Given the description of an element on the screen output the (x, y) to click on. 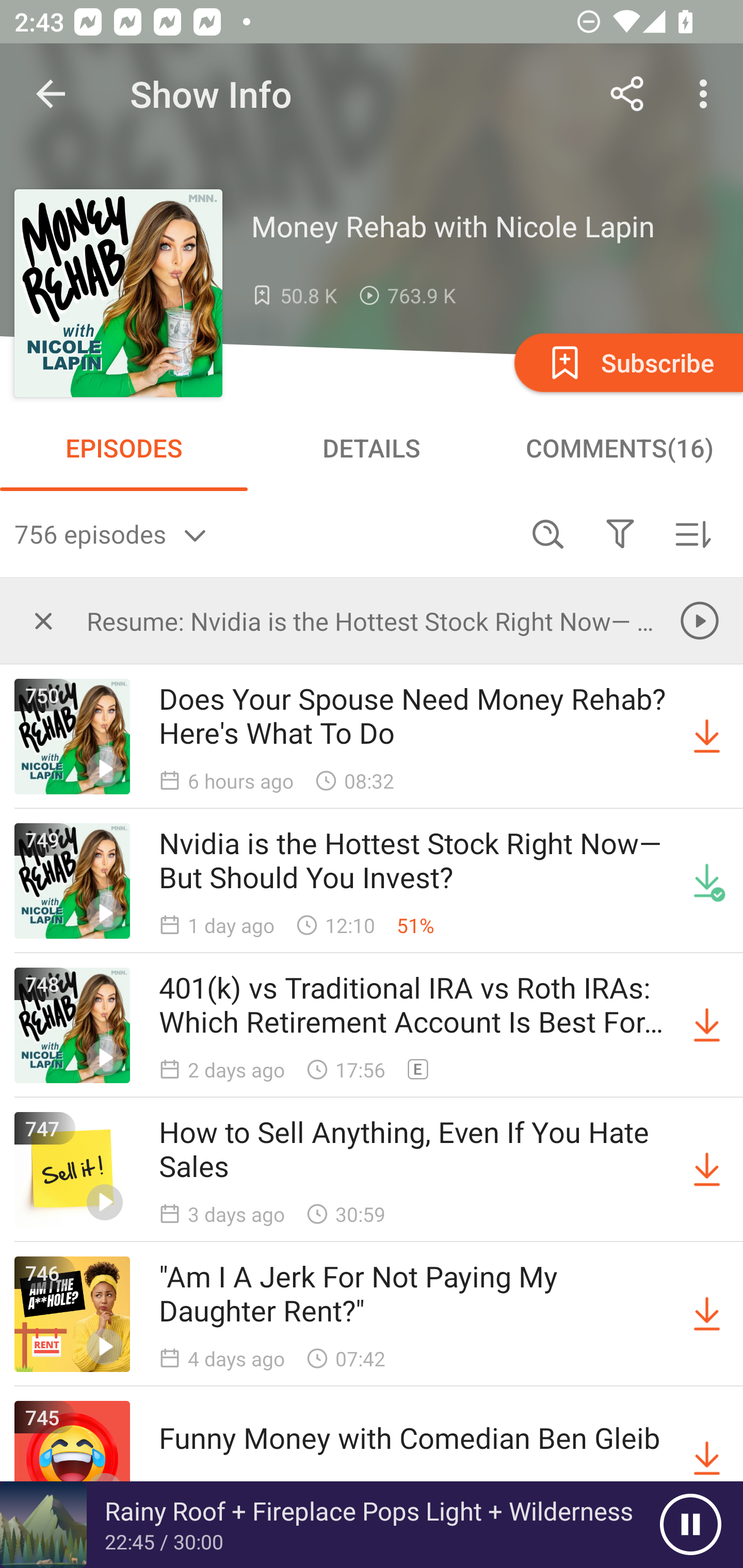
Navigate up (50, 93)
Share (626, 93)
More options (706, 93)
Subscribe (627, 361)
EPISODES (123, 447)
DETAILS (371, 447)
COMMENTS(16) (619, 447)
756 episodes  (262, 533)
 Search (547, 533)
 (619, 533)
 Sorted by newest first (692, 533)
 (43, 620)
Download (706, 736)
Downloaded (706, 881)
Download (706, 1025)
Download (706, 1169)
Download (706, 1313)
Download (706, 1458)
Pause (690, 1524)
